Given the description of an element on the screen output the (x, y) to click on. 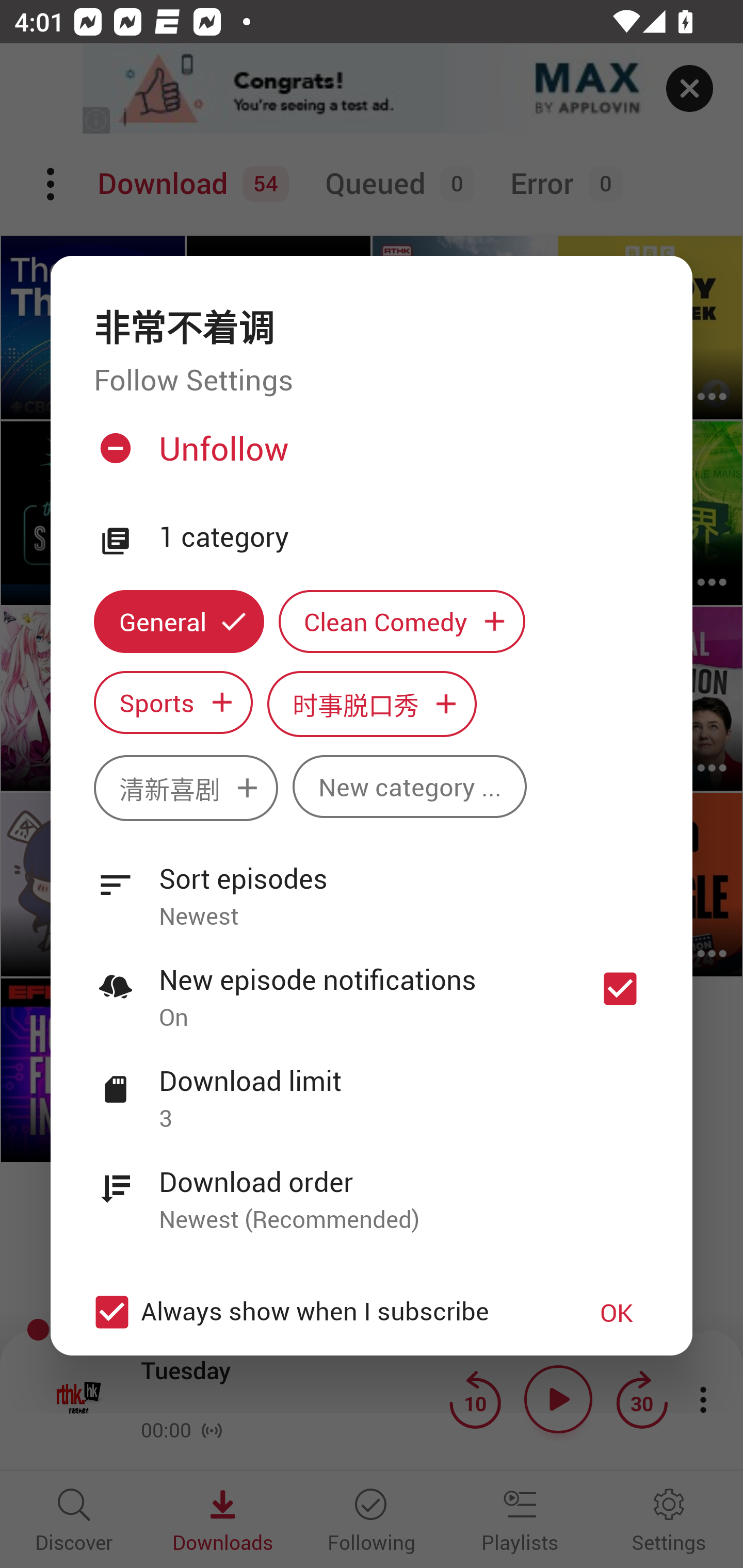
Unfollow (369, 456)
1 category (404, 537)
General (178, 620)
Clean Comedy (401, 620)
Sports (172, 702)
时事脱口秀 (372, 703)
清新喜剧 (185, 788)
New category ... (409, 786)
Sort episodes Newest (371, 885)
New episode notifications (620, 988)
Download limit 3 (371, 1088)
Download order Newest (Recommended) (371, 1189)
OK (616, 1311)
Always show when I subscribe (320, 1311)
